Given the description of an element on the screen output the (x, y) to click on. 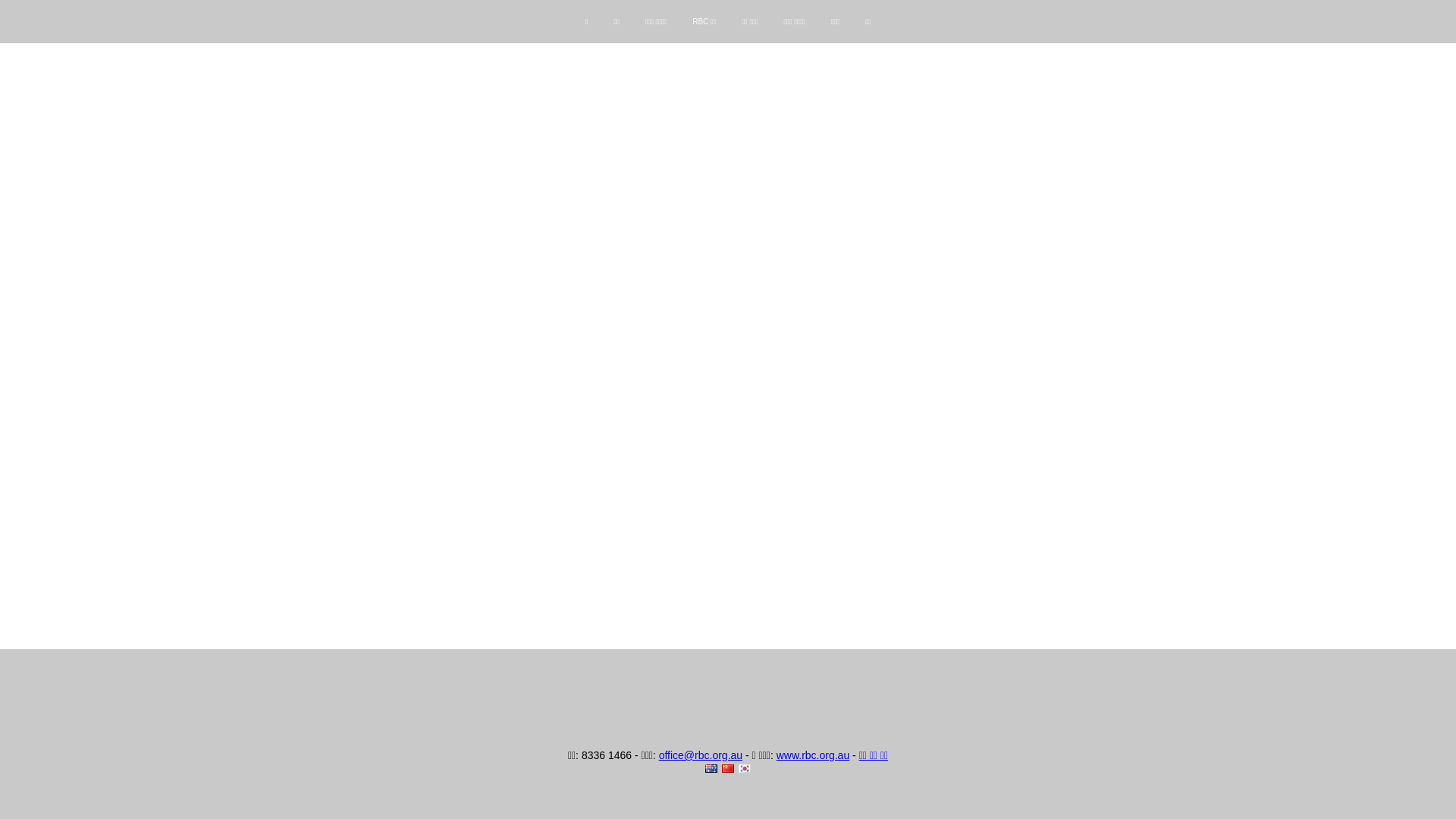
English Element type: hover (710, 768)
office@rbc.org.au Element type: text (700, 755)
www.rbc.org.au Element type: text (812, 755)
